Given the description of an element on the screen output the (x, y) to click on. 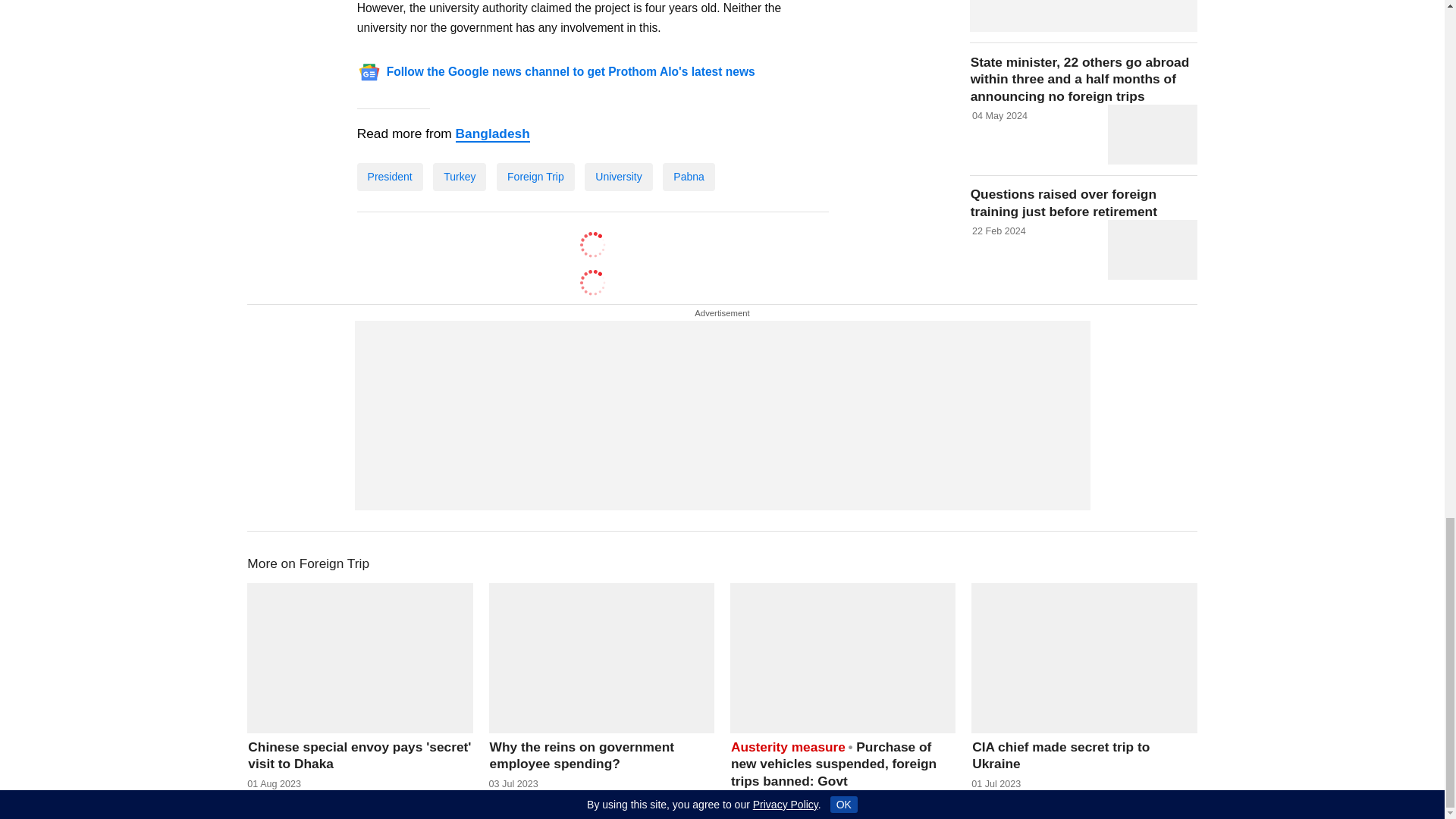
President (389, 176)
Bangladesh (492, 134)
Turkey (459, 176)
